Given the description of an element on the screen output the (x, y) to click on. 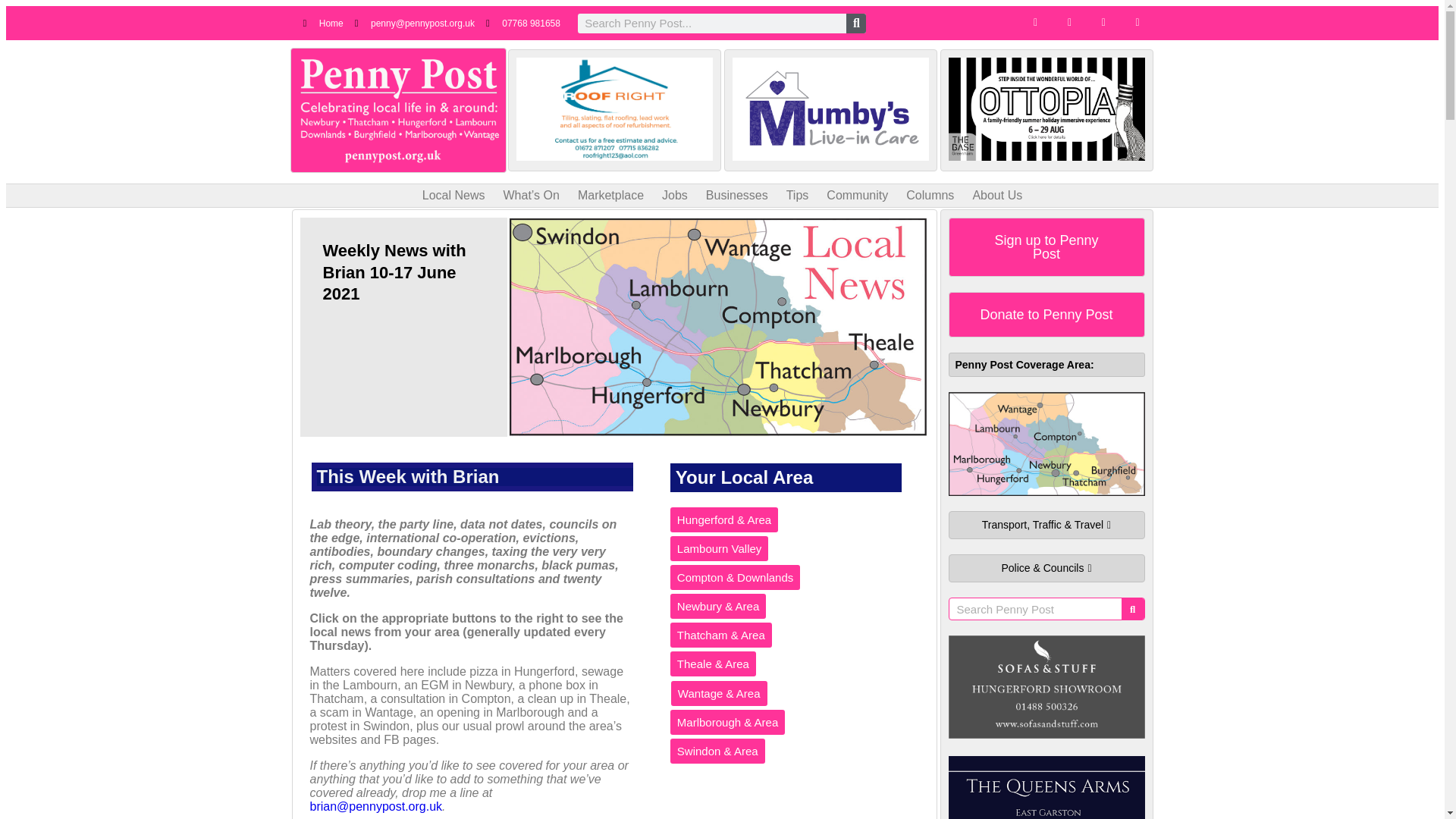
Home (322, 23)
Local News (454, 195)
